Given the description of an element on the screen output the (x, y) to click on. 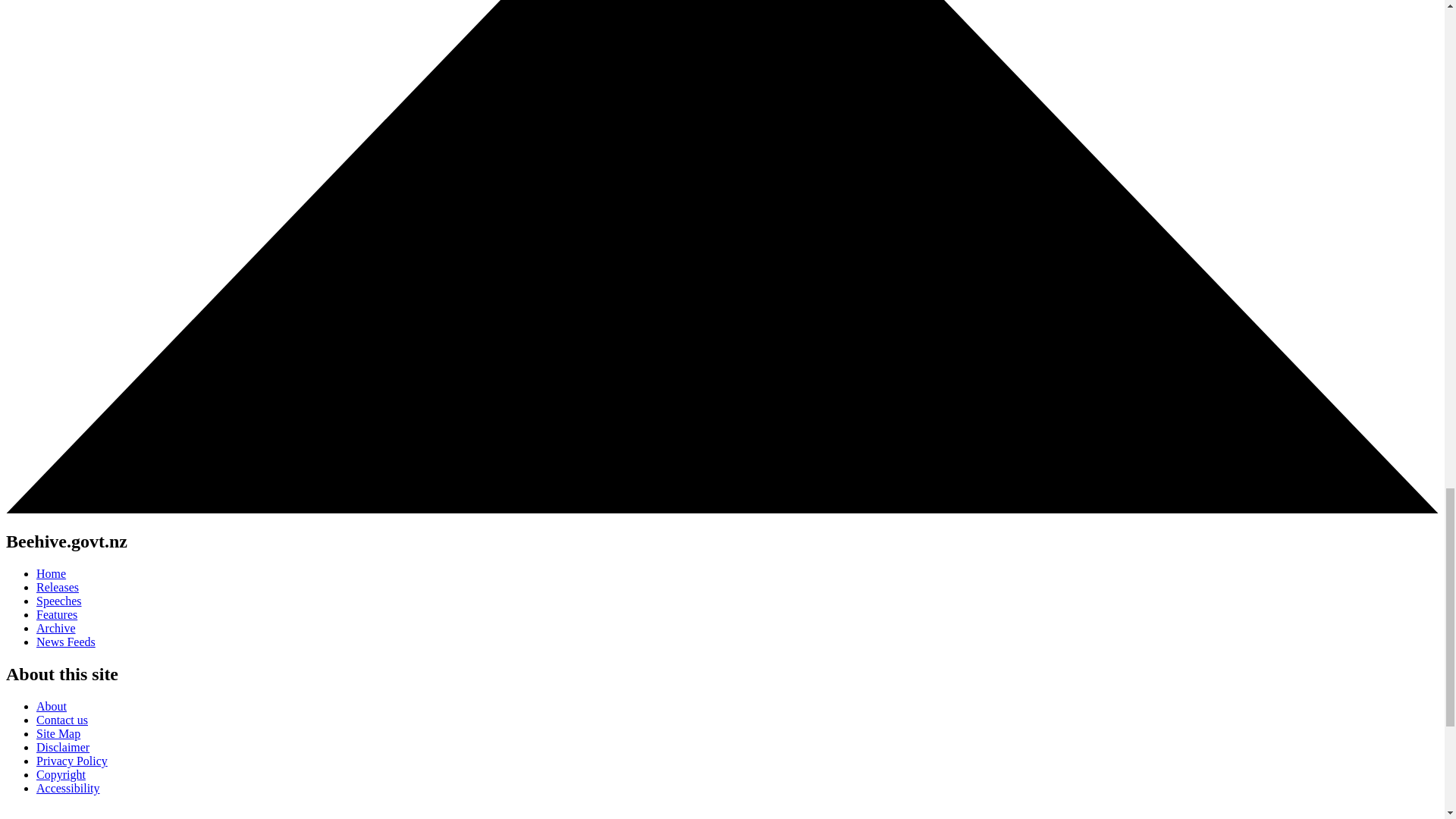
Accessibility (68, 788)
News Feeds (66, 641)
Site Map (58, 733)
About (51, 706)
Speeches (58, 600)
Home (50, 573)
Privacy Policy (71, 760)
Features (56, 614)
Copyright (60, 774)
Disclaimer (62, 747)
